Given the description of an element on the screen output the (x, y) to click on. 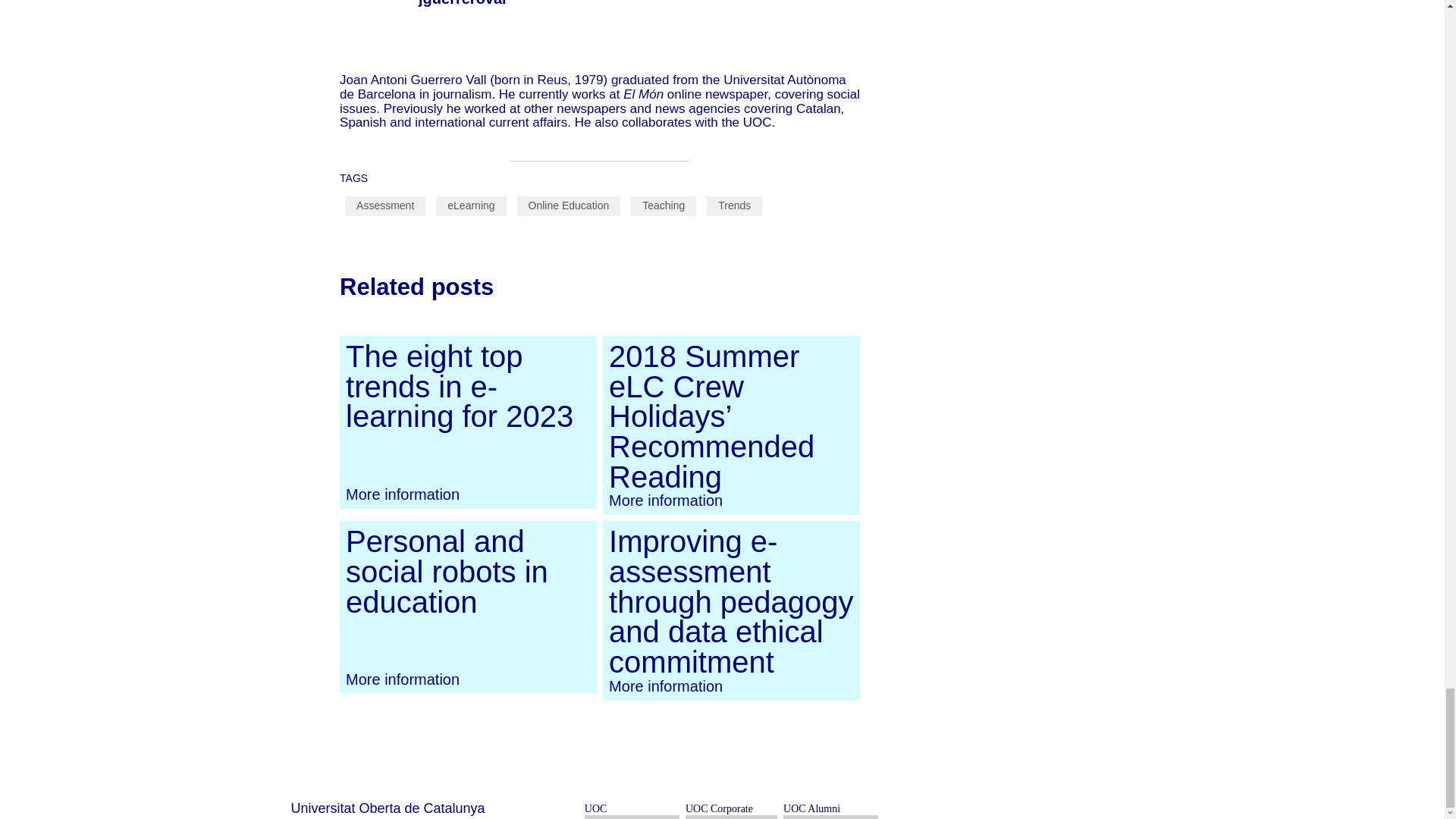
Teaching Tag (662, 205)
Trends Tag (733, 205)
Entradas de jguerreroval (462, 3)
Online Education Tag (568, 205)
eLearning Tag (470, 205)
Assessment Tag (385, 205)
